Given the description of an element on the screen output the (x, y) to click on. 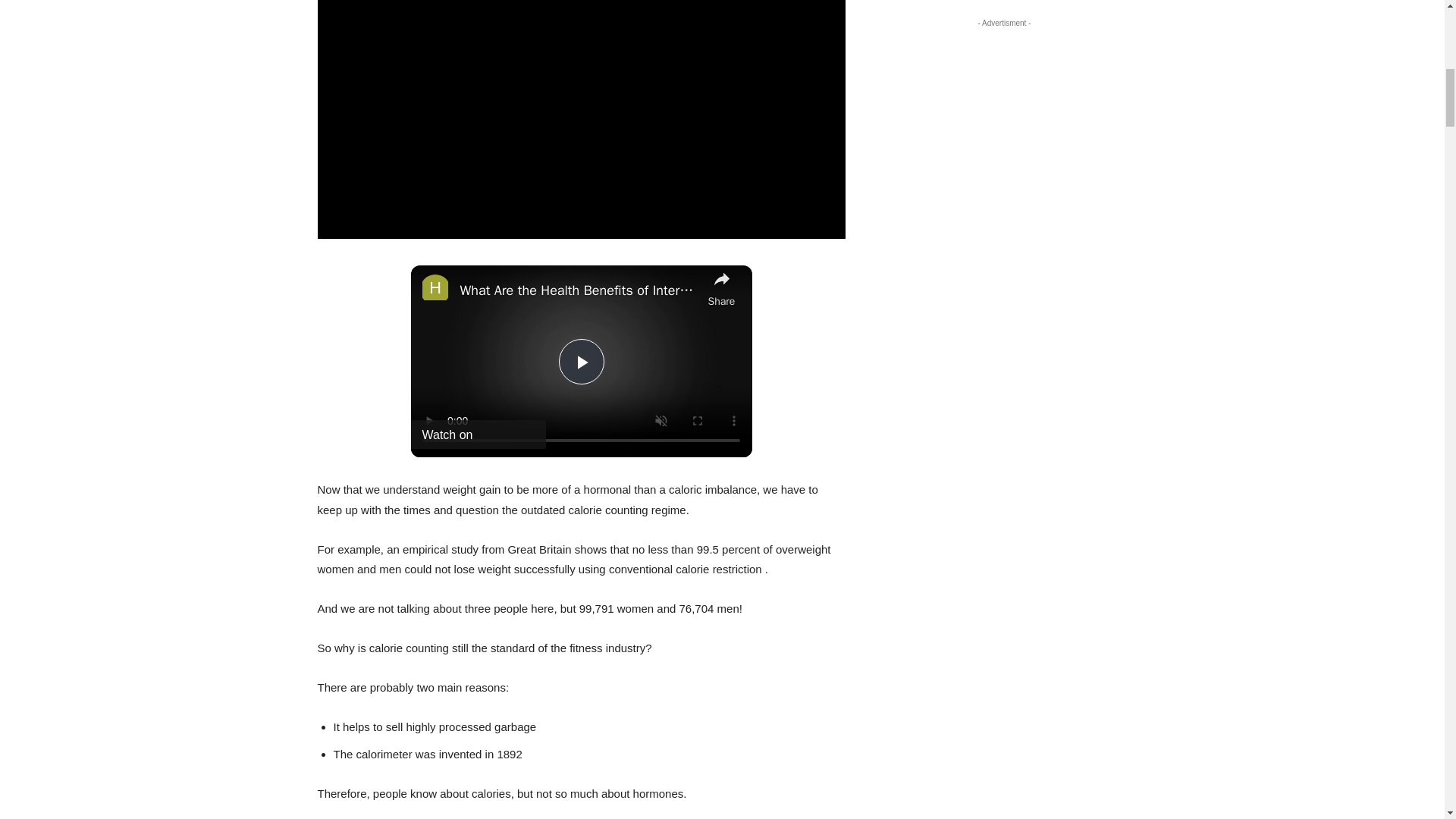
Play Video (580, 361)
